Given the description of an element on the screen output the (x, y) to click on. 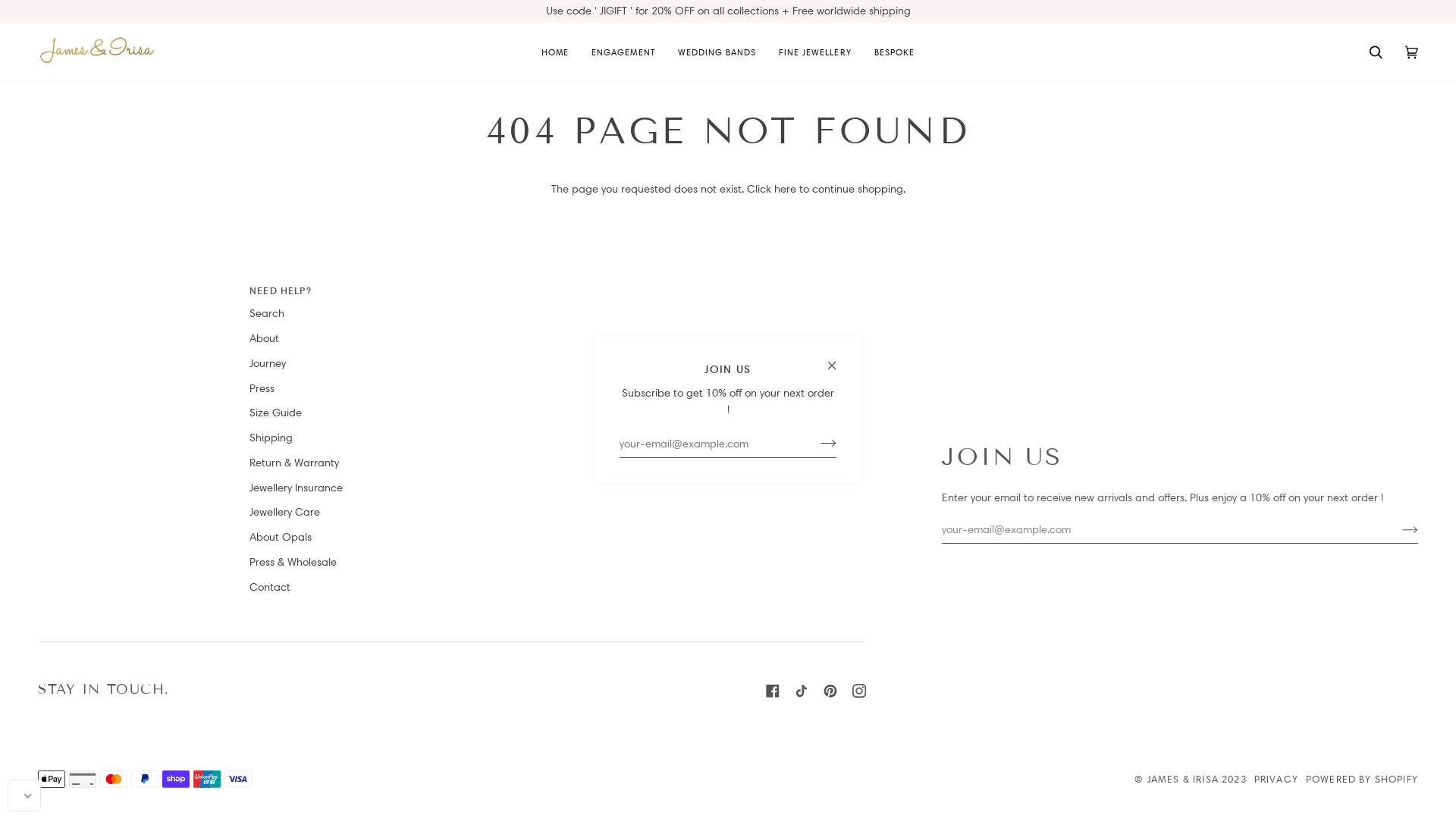
Jewellery Insurance Element type: text (295, 487)
Press Element type: text (261, 388)
About Opals Element type: text (280, 536)
Tiktok Element type: text (801, 690)
Shipping Element type: text (270, 437)
Journey Element type: text (267, 363)
WEDDING BANDS Element type: text (716, 51)
Press & Wholesale Element type: text (292, 561)
PRIVACY Element type: text (1276, 778)
Cart
(0) Element type: text (1411, 51)
HOME Element type: text (555, 51)
Pinterest Element type: text (830, 690)
FINE JEWELLERY Element type: text (814, 51)
POWERED BY SHOPIFY Element type: text (1361, 778)
ENGAGEMENT Element type: text (622, 51)
Facebook Element type: text (772, 690)
BESPOKE Element type: text (893, 51)
Size Guide Element type: text (275, 412)
Instagram Element type: text (859, 690)
About Element type: text (264, 338)
JAMES & IRISA Element type: text (1182, 778)
Contact Element type: text (269, 586)
Close Element type: hover (837, 358)
Jewellery Care Element type: text (284, 511)
Return & Warranty Element type: text (293, 462)
Search Element type: text (266, 313)
here Element type: text (784, 188)
Search Element type: text (1375, 51)
